Given the description of an element on the screen output the (x, y) to click on. 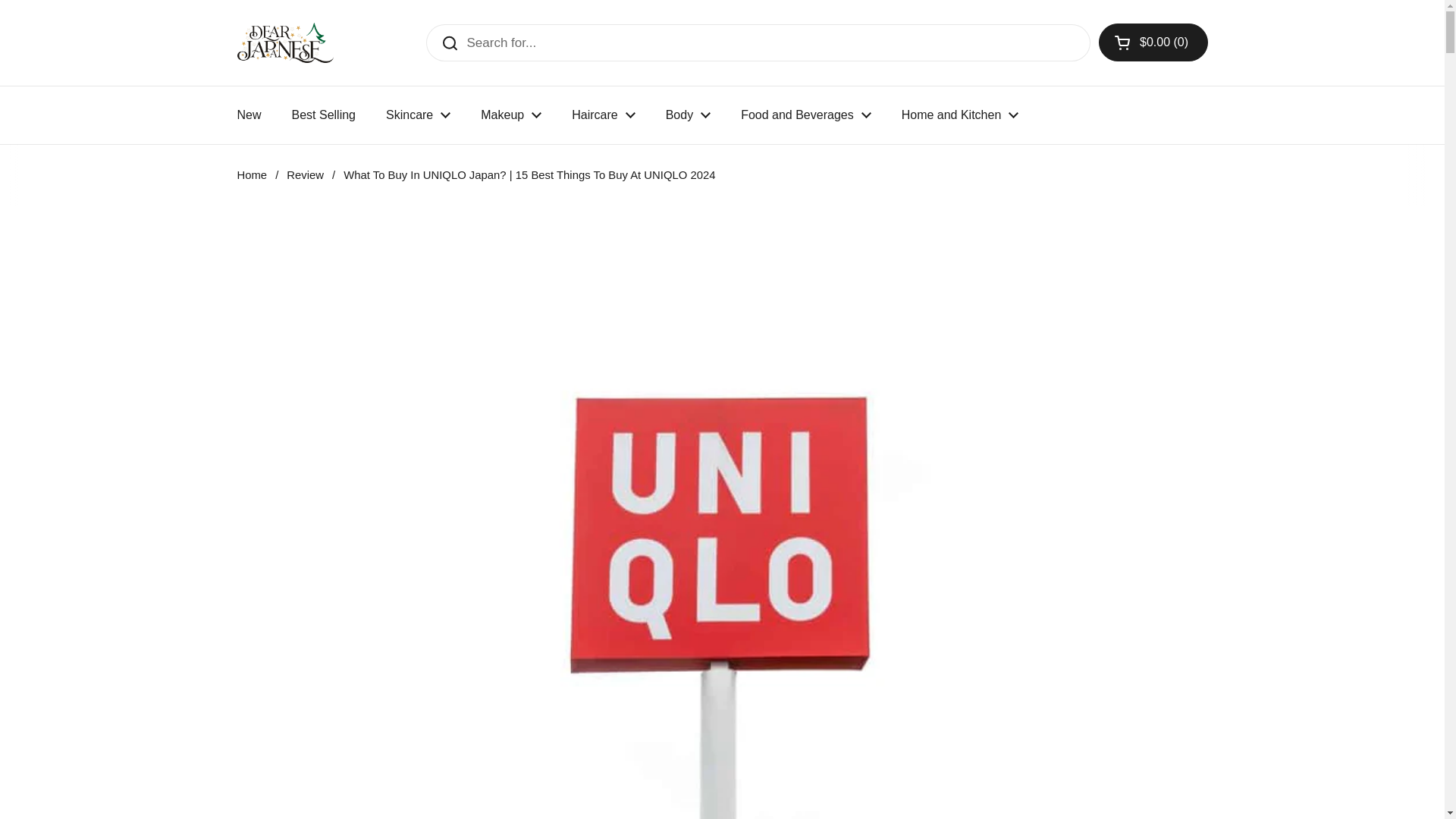
Best Japanese Products (284, 42)
Makeup (510, 114)
Best Selling (323, 114)
Haircare (602, 114)
New (248, 114)
Makeup (510, 114)
New (248, 114)
Body (687, 114)
Skincare (418, 114)
